Given the description of an element on the screen output the (x, y) to click on. 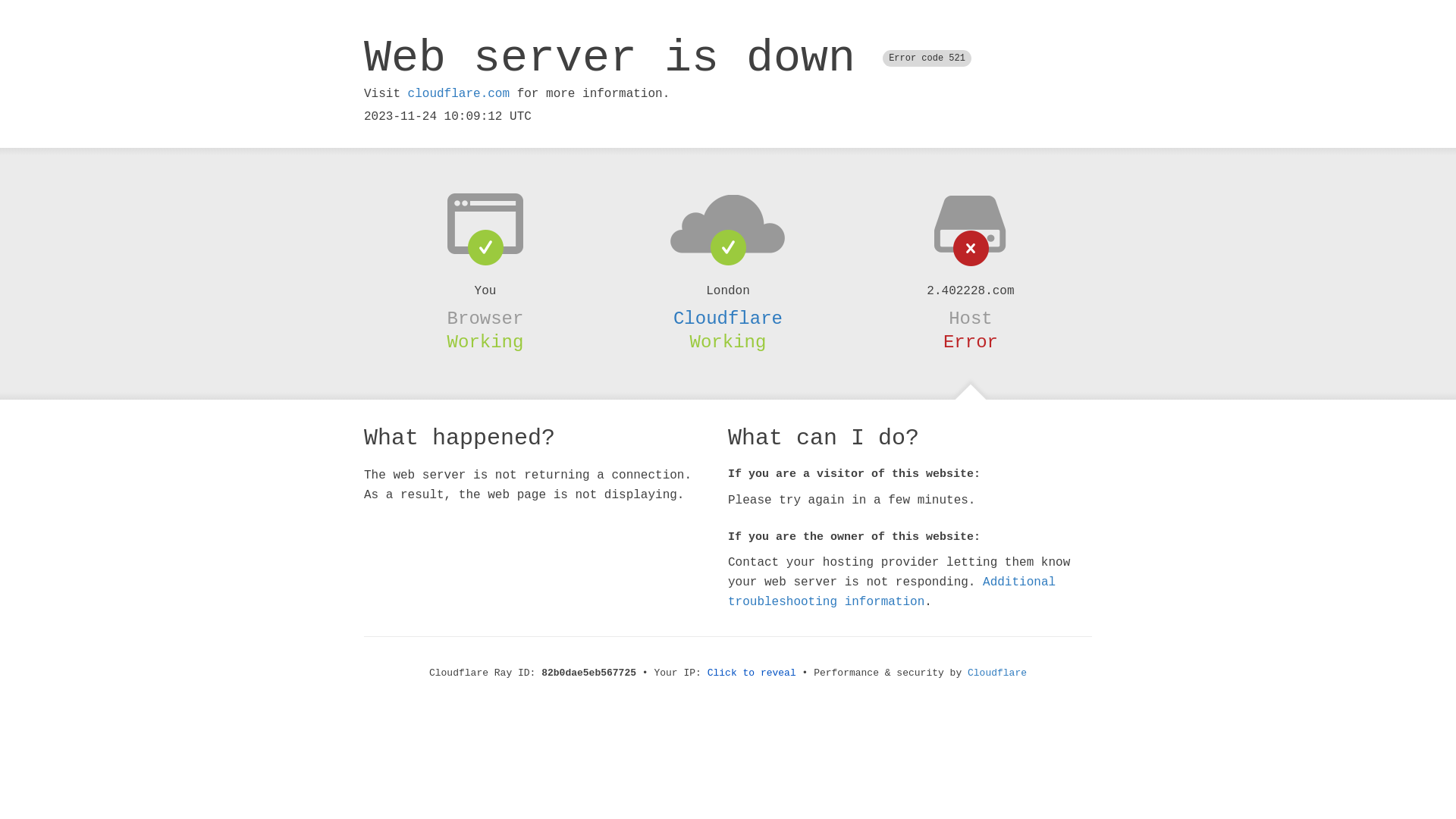
Cloudflare Element type: text (996, 672)
Click to reveal Element type: text (751, 672)
Cloudflare Element type: text (727, 318)
cloudflare.com Element type: text (458, 93)
Additional troubleshooting information Element type: text (891, 591)
